Given the description of an element on the screen output the (x, y) to click on. 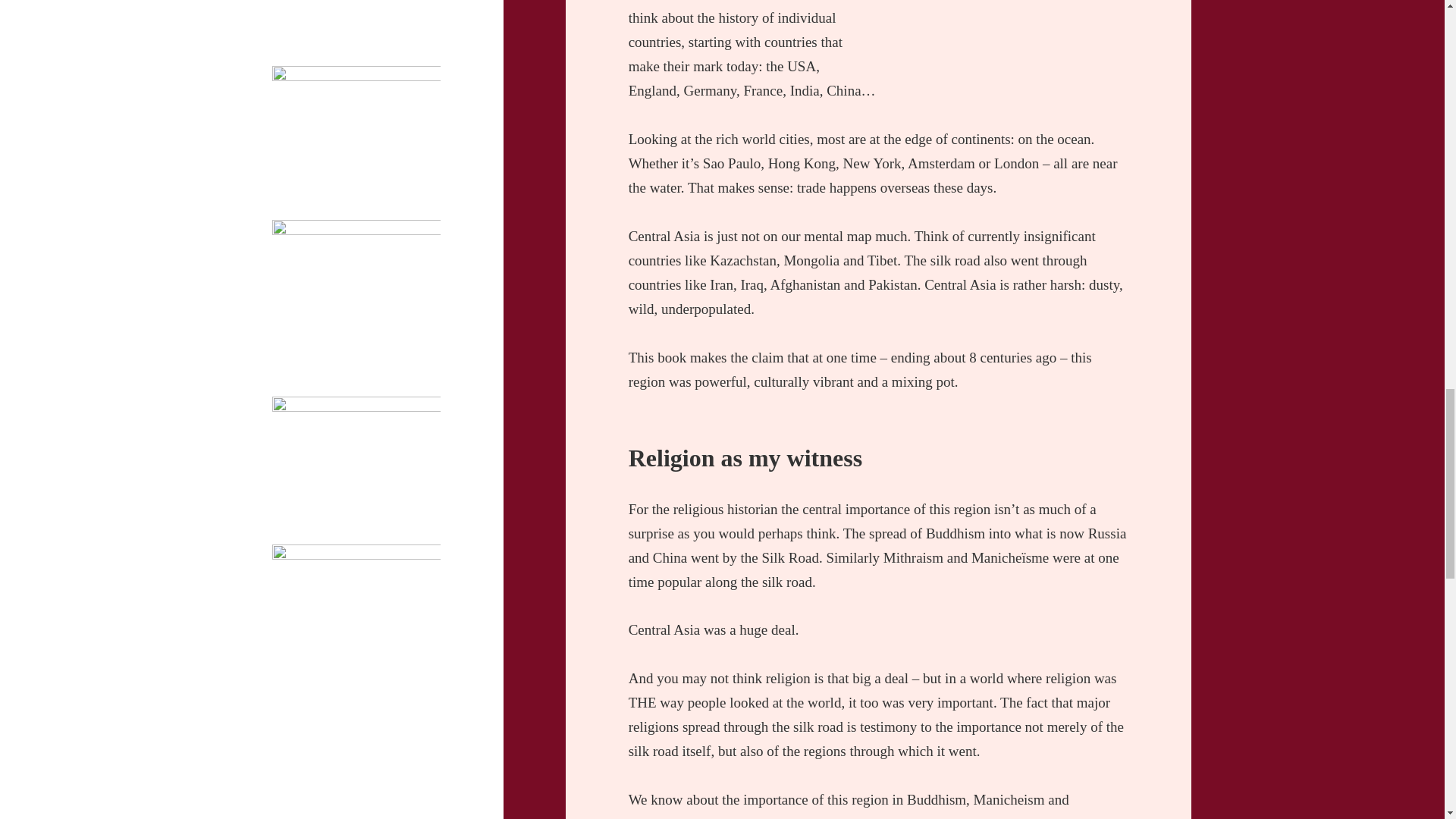
Martin Meredith: The State of Africa (345, 811)
Existential Psychotherapy, Irvin D. Yalom (350, 371)
Tangram Puzzles for Kids (334, 50)
LEGOS For Adults: Lego sets for Grown Ups for Christmas (353, 519)
